Given the description of an element on the screen output the (x, y) to click on. 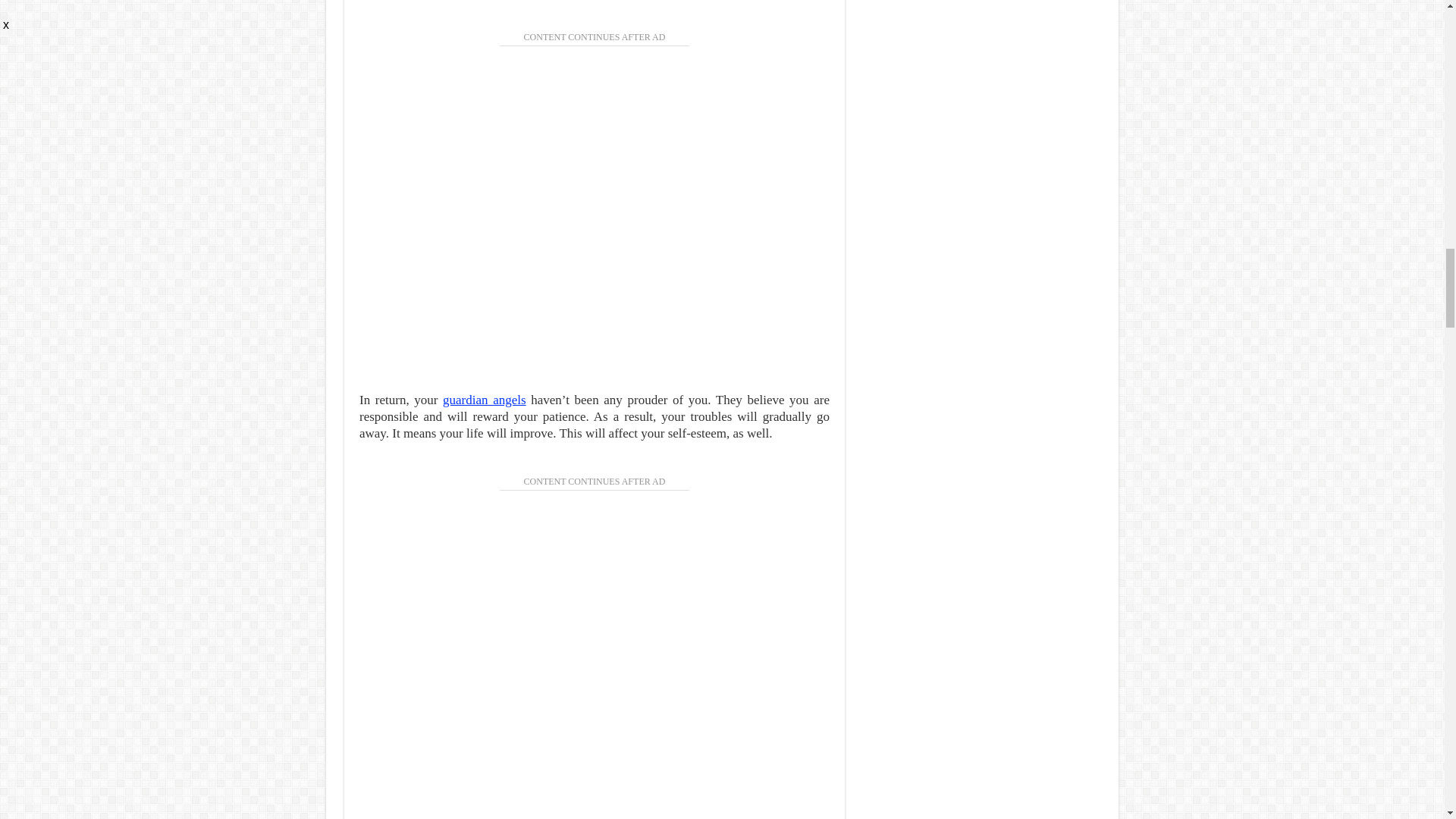
guardian angels (483, 400)
